Given the description of an element on the screen output the (x, y) to click on. 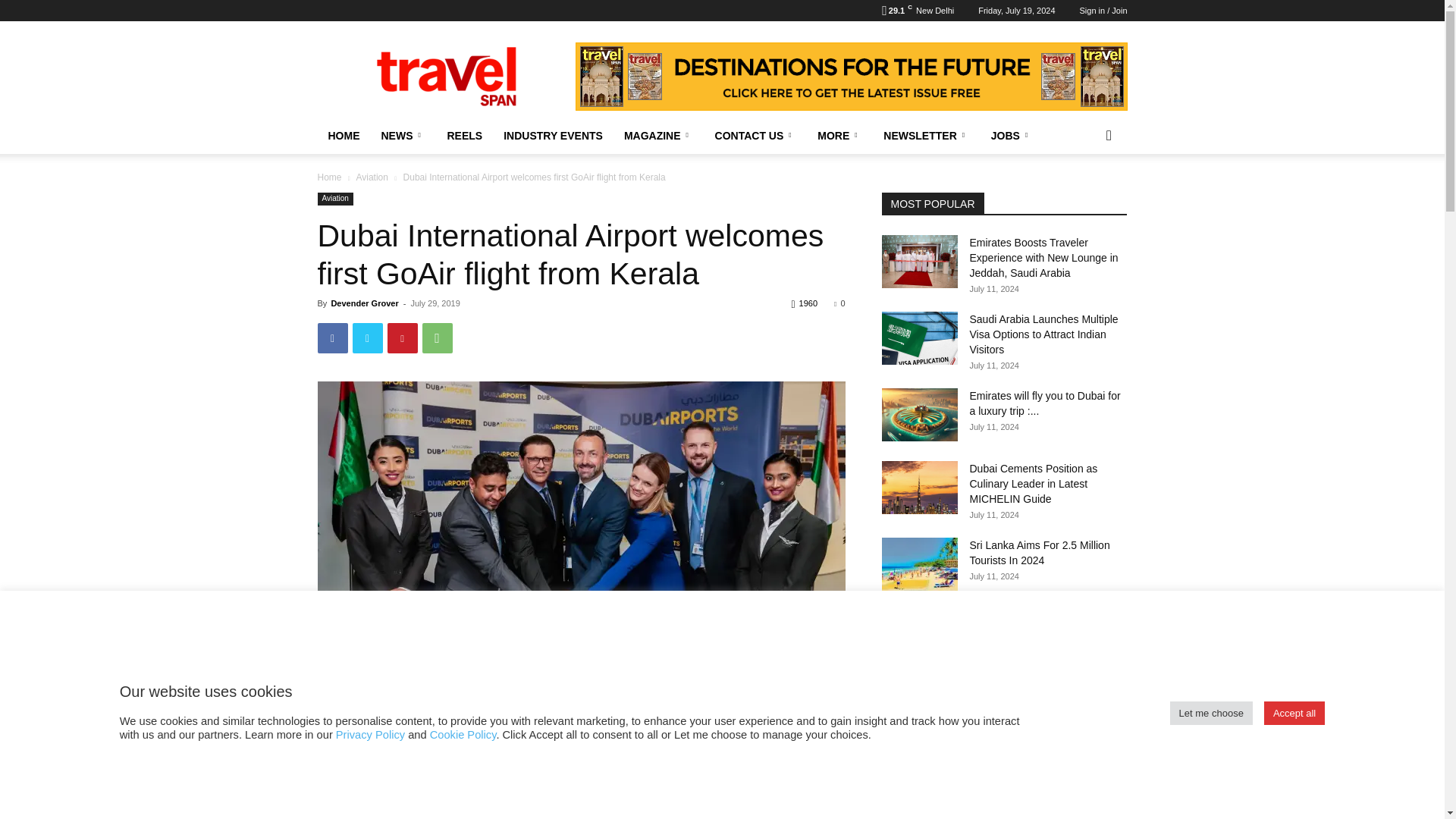
Facebook (332, 337)
View all posts in Aviation (371, 176)
Twitter (366, 337)
Pinterest (401, 337)
WhatsApp (436, 337)
Advertisement (580, 784)
